Given the description of an element on the screen output the (x, y) to click on. 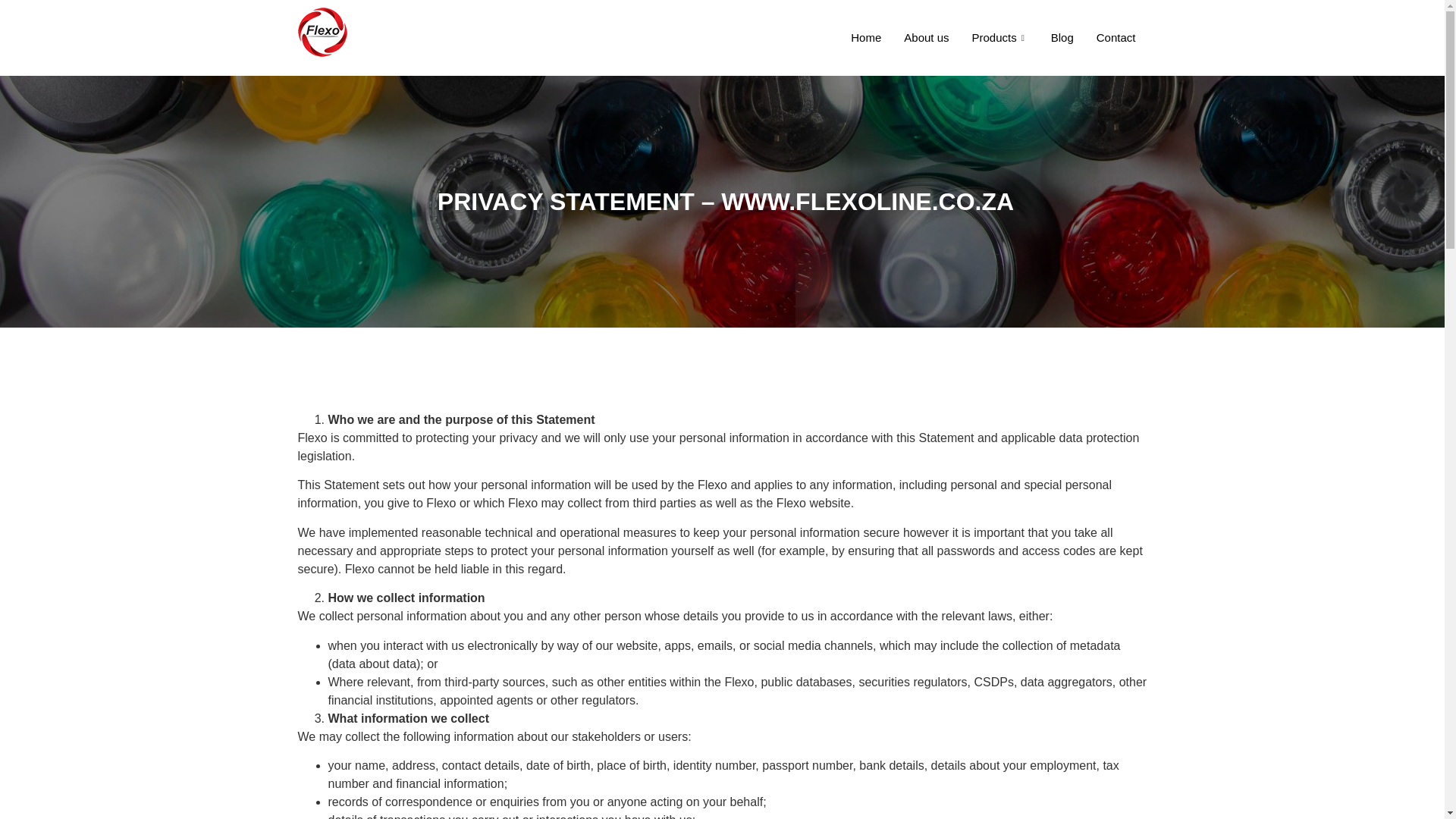
Products (999, 37)
About us (925, 37)
Contact (1115, 37)
